Given the description of an element on the screen output the (x, y) to click on. 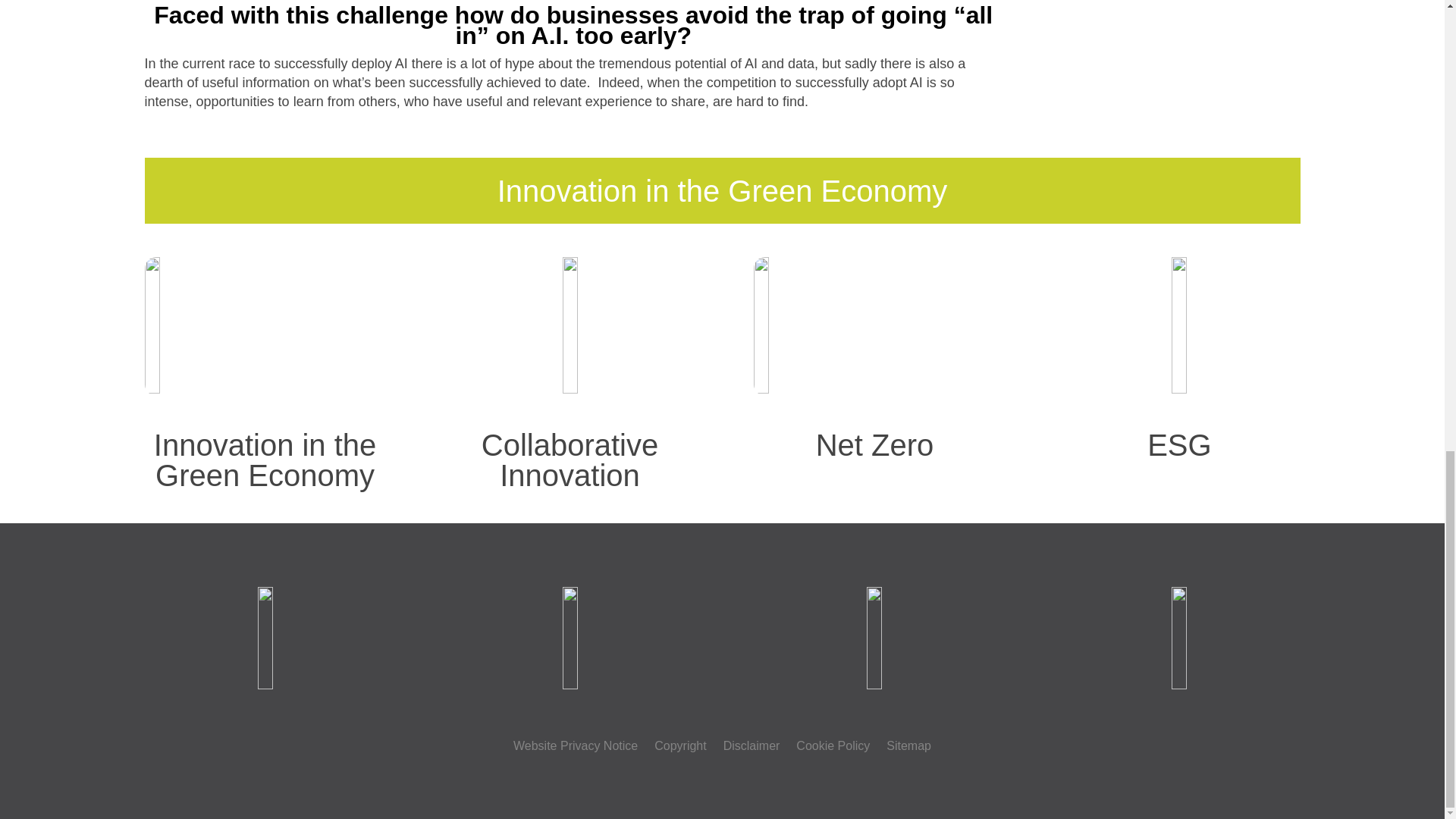
Newsletter subscribe footer button (1179, 638)
ESG - Marketing Knowledge (1179, 325)
Contact Us 2 (264, 638)
Linkedin - follow us button (874, 638)
Schedule a Meeting (569, 638)
